Given the description of an element on the screen output the (x, y) to click on. 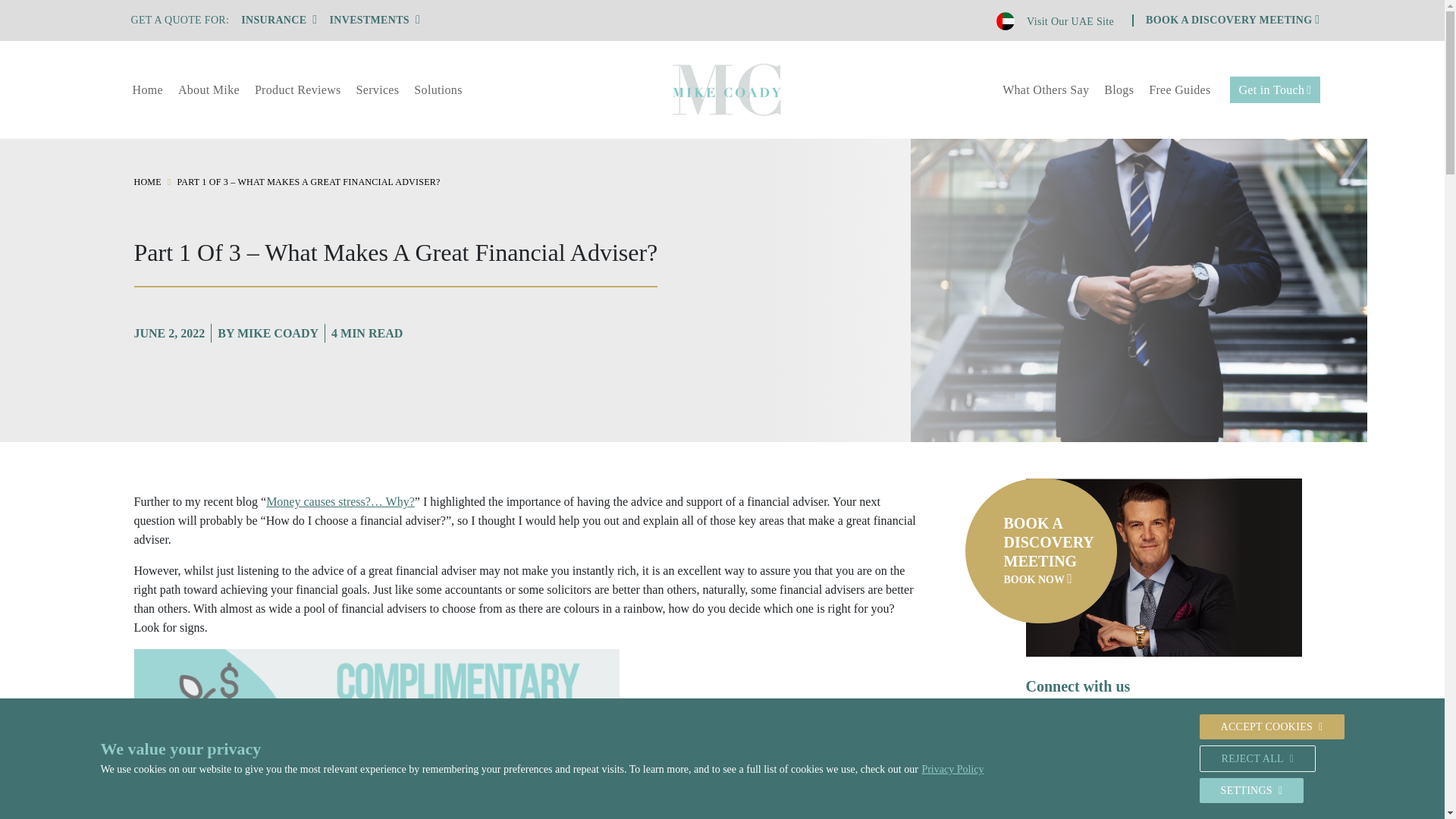
Privacy Policy (952, 768)
INSURANCE (279, 20)
SETTINGS (1251, 790)
BOOK A DISCOVERY MEETING (1232, 20)
About Mike (208, 89)
REJECT ALL (1257, 758)
INVESTMENTS (375, 20)
Product Reviews (298, 89)
ACCEPT COOKIES (1271, 726)
